Given the description of an element on the screen output the (x, y) to click on. 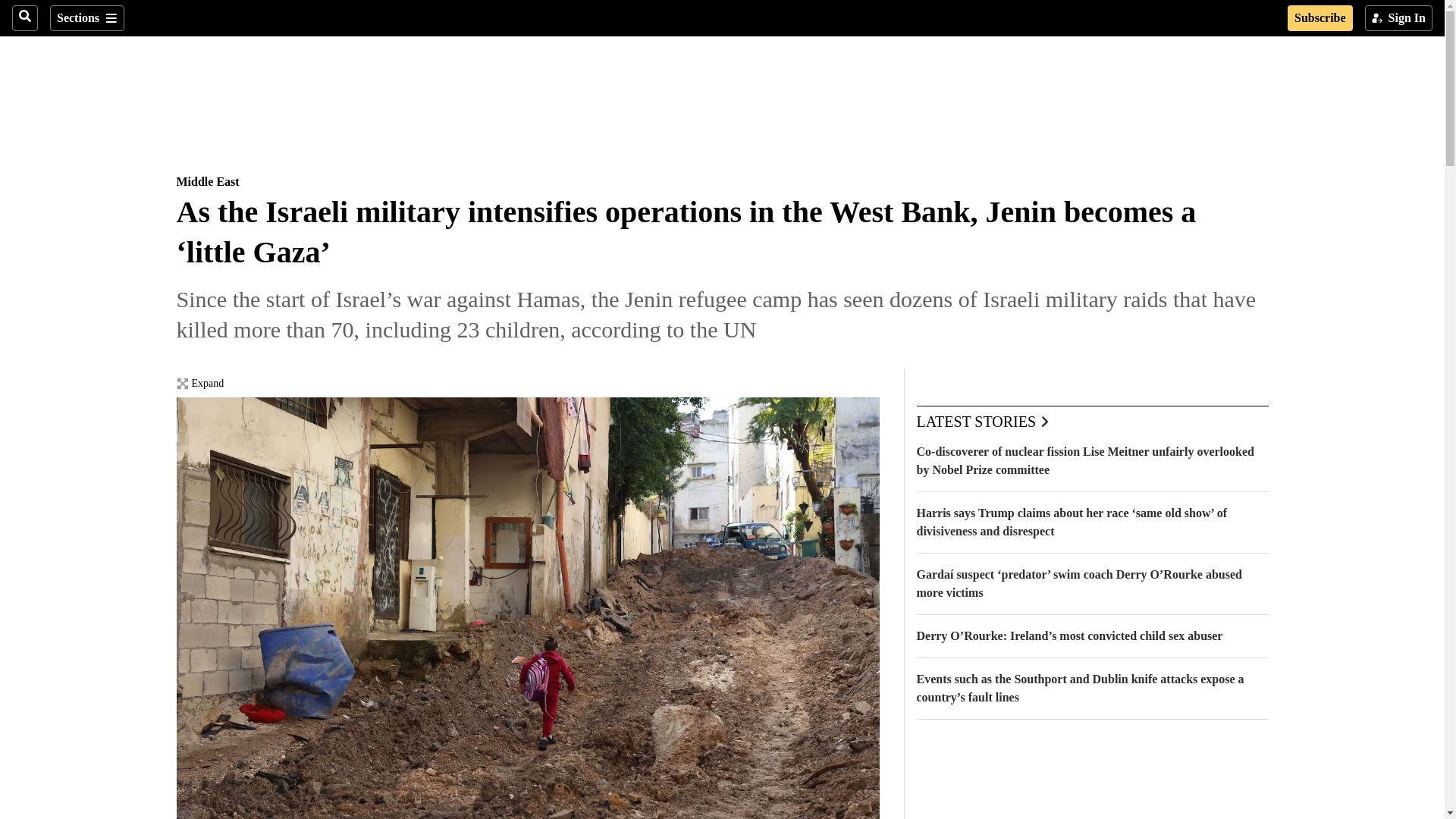
Sign In (1398, 17)
Sections (86, 17)
Subscribe (1319, 17)
